Given the description of an element on the screen output the (x, y) to click on. 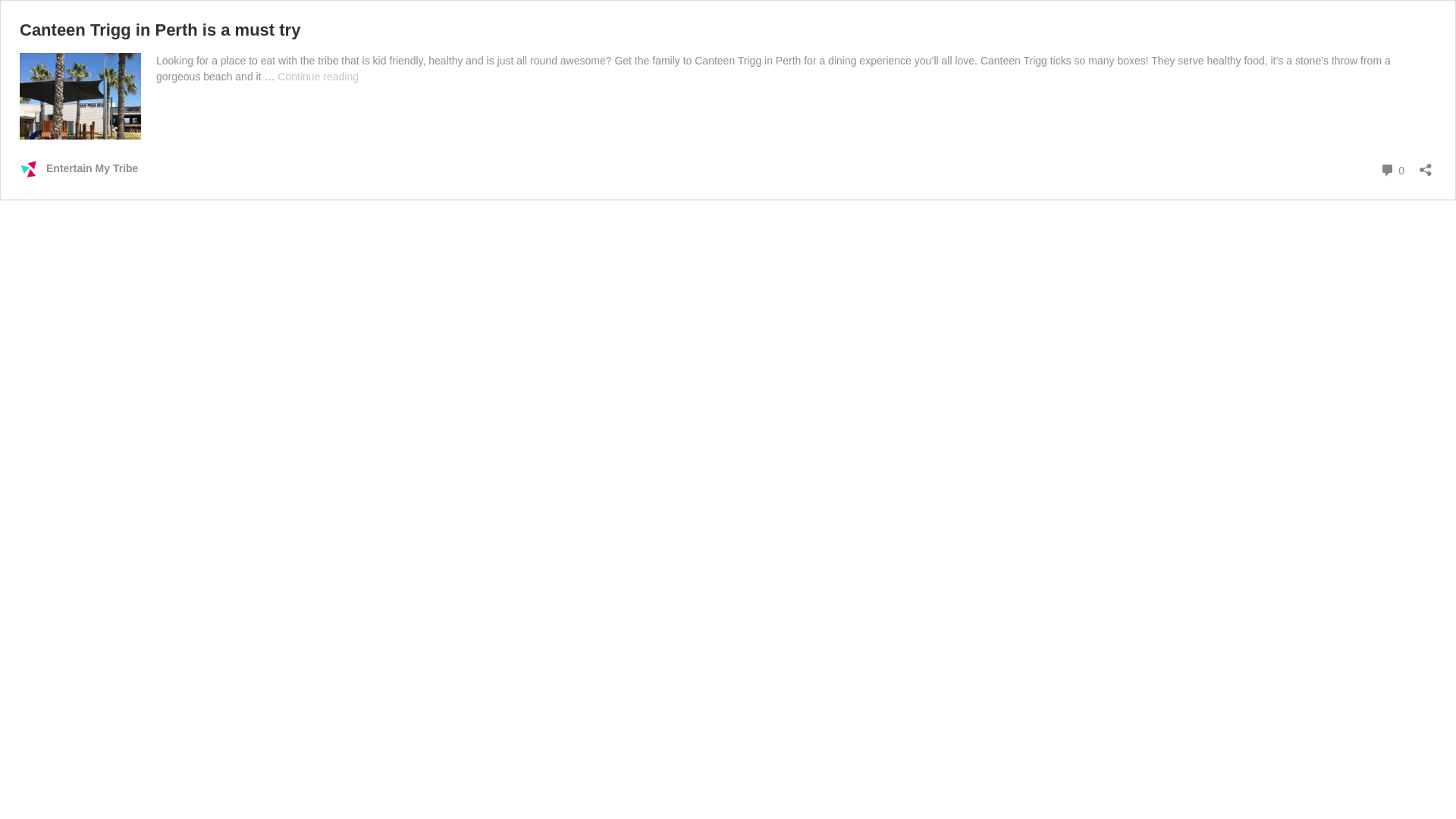
Continue reading
Canteen Trigg in Perth is a must try Element type: text (317, 76)
Entertain My Tribe Element type: text (78, 168)
Canteen Trigg in Perth is a must try Element type: text (159, 29)
0
Comments Element type: text (1392, 169)
